Given the description of an element on the screen output the (x, y) to click on. 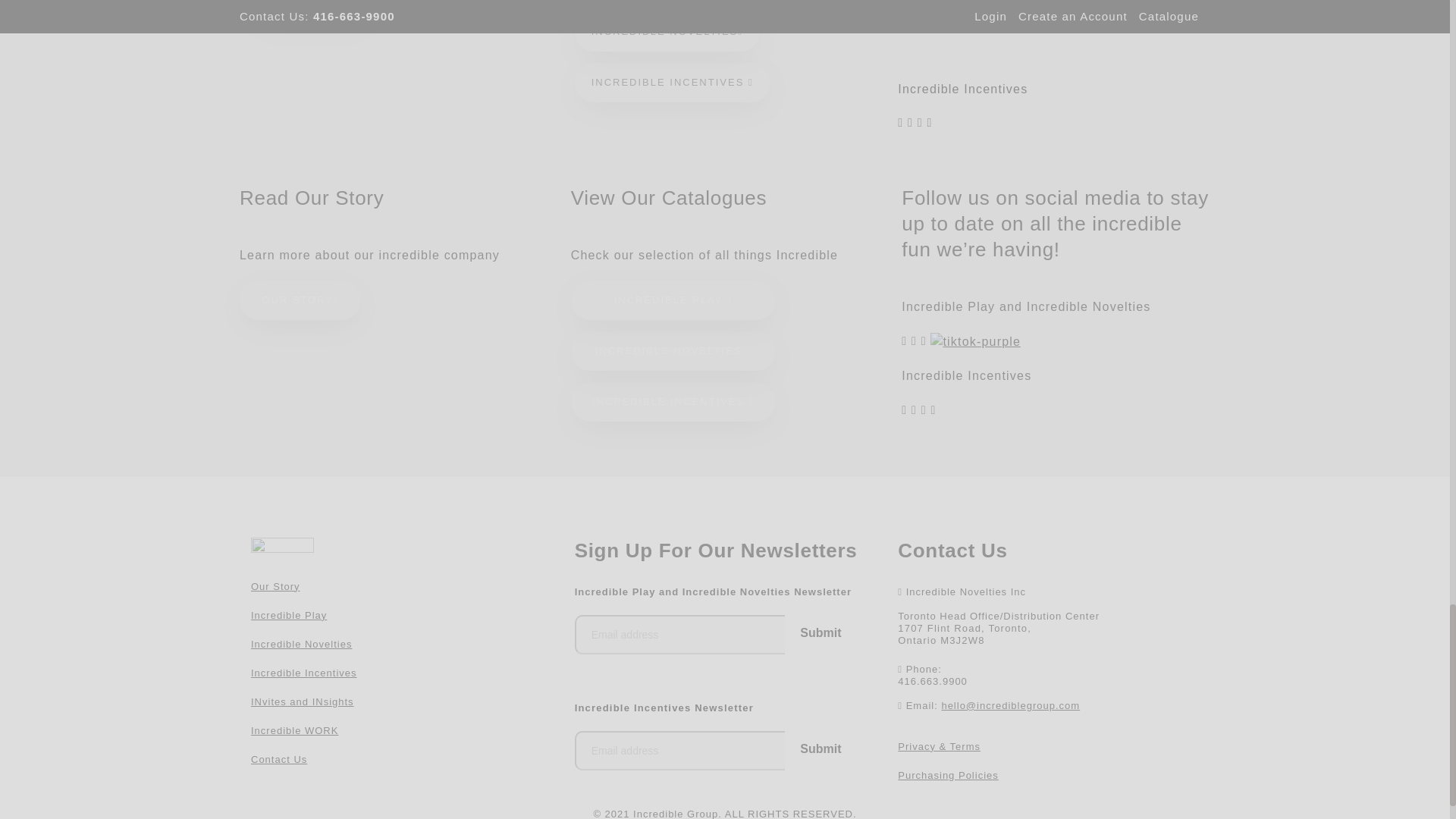
INCREDIBLE NOVELTIES (667, 31)
Submit (820, 633)
INCREDIBLE NOVELTIES (673, 351)
SIGN UP (311, 9)
Incredible Play (288, 614)
OUR STORY (300, 300)
Submit (820, 749)
Our Story (274, 586)
INCREDIBLE INCENTIVES (672, 82)
